Given the description of an element on the screen output the (x, y) to click on. 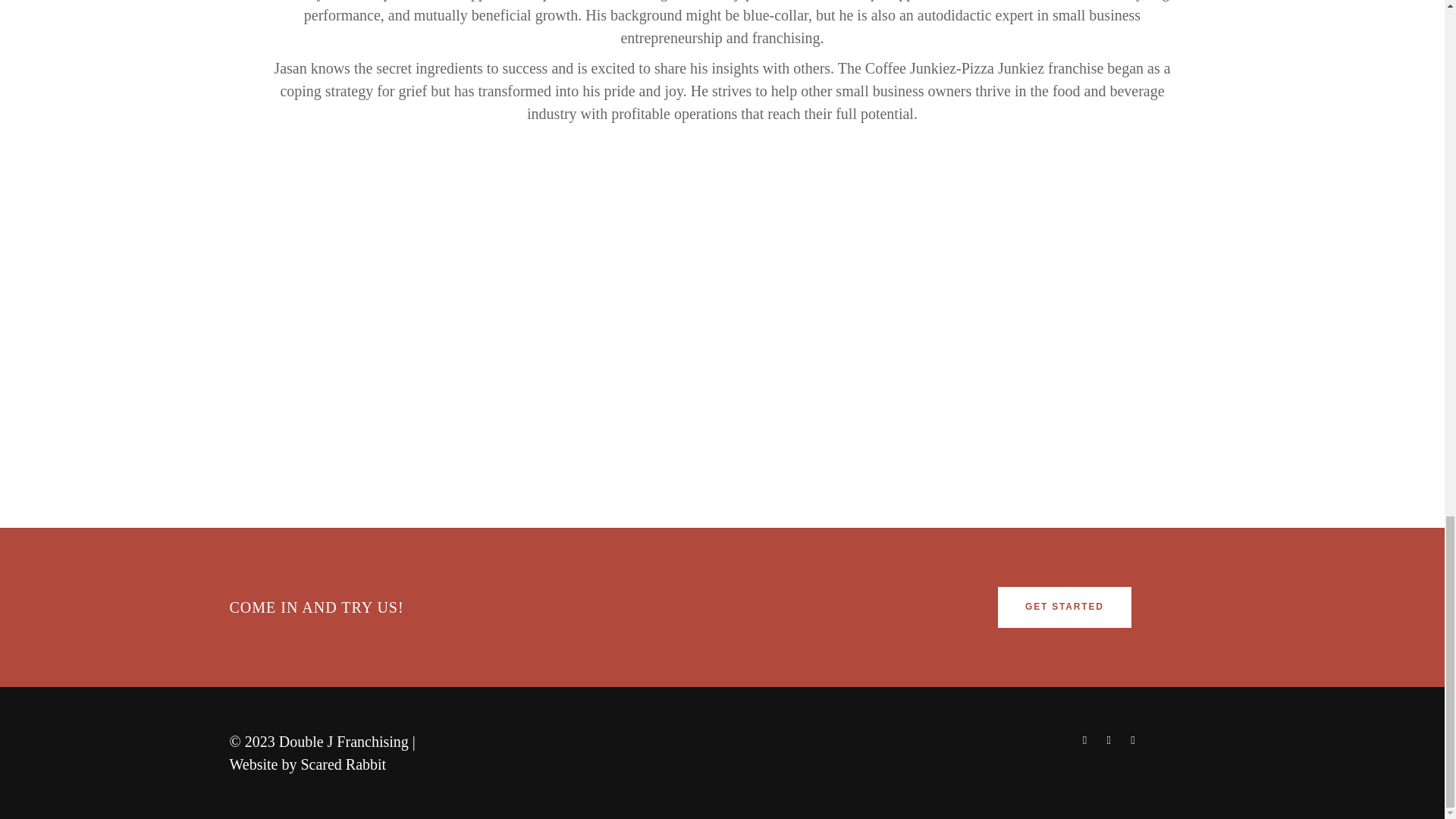
download-2-min (539, 337)
download-4-min (903, 337)
download-min (174, 337)
